Given the description of an element on the screen output the (x, y) to click on. 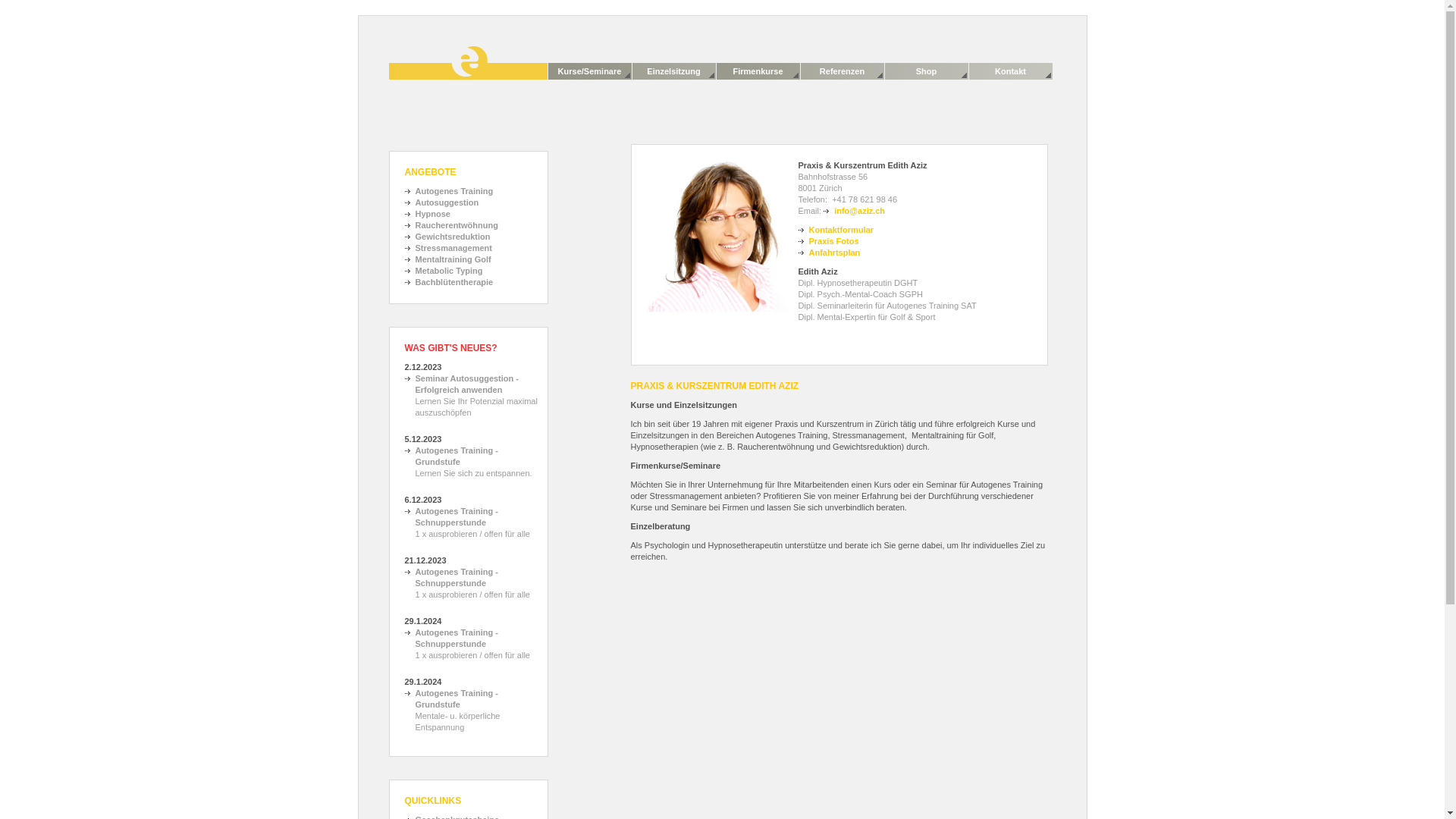
Mentaltraining Golf Element type: text (447, 259)
Autogenes Training Element type: text (448, 191)
Seminar Autosuggestion - Erfolgreich anwenden Element type: text (471, 384)
Firmenkurse Element type: text (757, 70)
Shop Element type: text (925, 70)
Autosuggestion Element type: text (441, 202)
Kontakt Element type: text (1010, 70)
Autogenes Training - Grundstufe Element type: text (471, 456)
Referenzen Element type: text (842, 70)
Hypnose Element type: text (427, 213)
Einzelsitzung Element type: text (673, 70)
Autogenes Training - Schnupperstunde Element type: text (471, 516)
Autogenes Training - Grundstufe Element type: text (471, 698)
Gewichtsreduktion Element type: text (447, 236)
Anfahrtsplan Element type: text (828, 252)
Praxis Edith Aziz Element type: text (467, 62)
Praxis Fotos Element type: text (827, 241)
Metabolic Typing Element type: text (443, 270)
Autogenes Training - Schnupperstunde Element type: text (471, 577)
Kurse/Seminare Element type: text (588, 70)
Autogenes Training - Schnupperstunde Element type: text (471, 638)
Stressmanagement Element type: text (448, 248)
Kontaktformular Element type: text (835, 229)
info@aziz.ch Element type: text (853, 210)
